Given the description of an element on the screen output the (x, y) to click on. 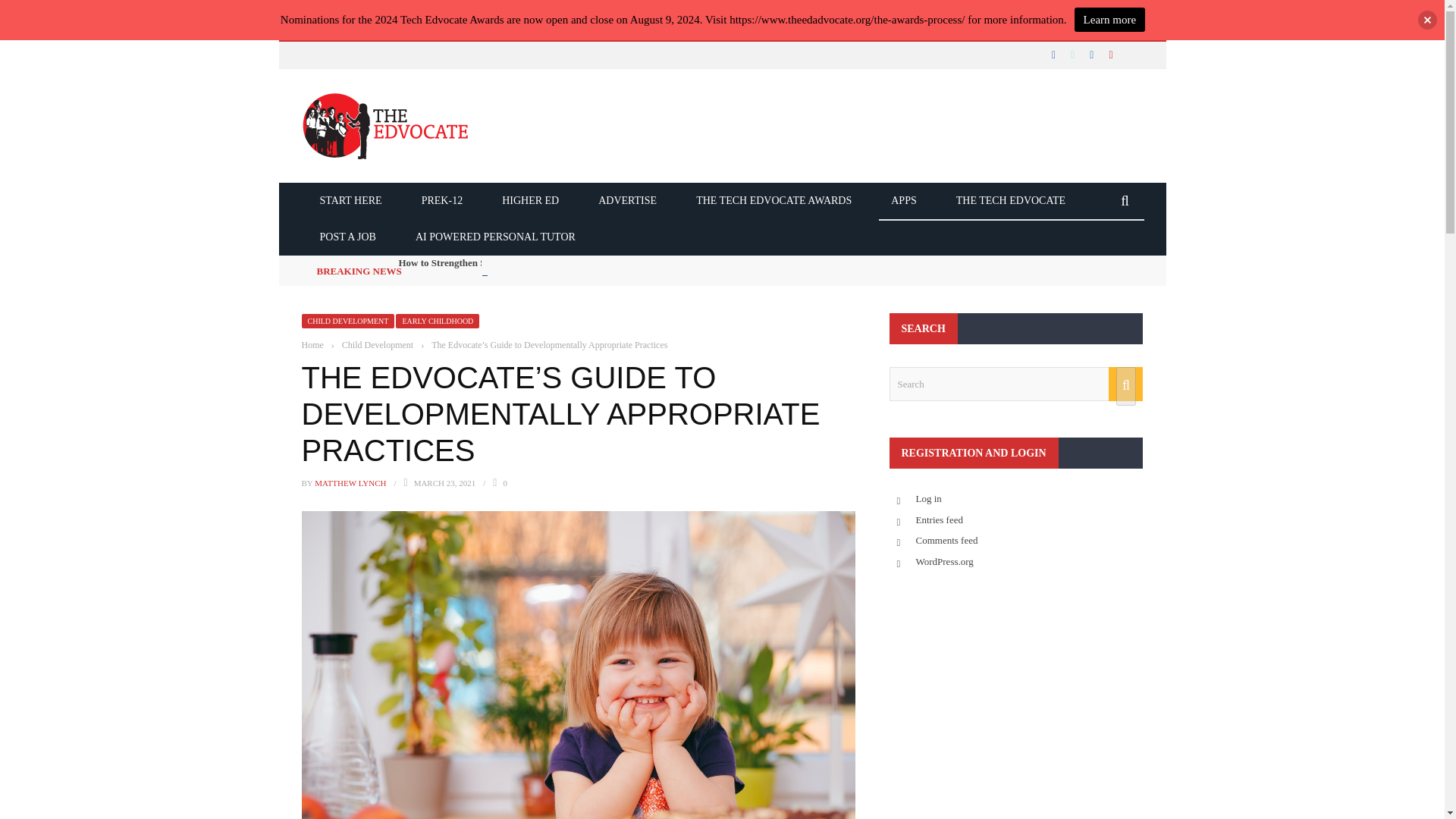
Advertisement (1015, 699)
Search (1015, 384)
